Given the description of an element on the screen output the (x, y) to click on. 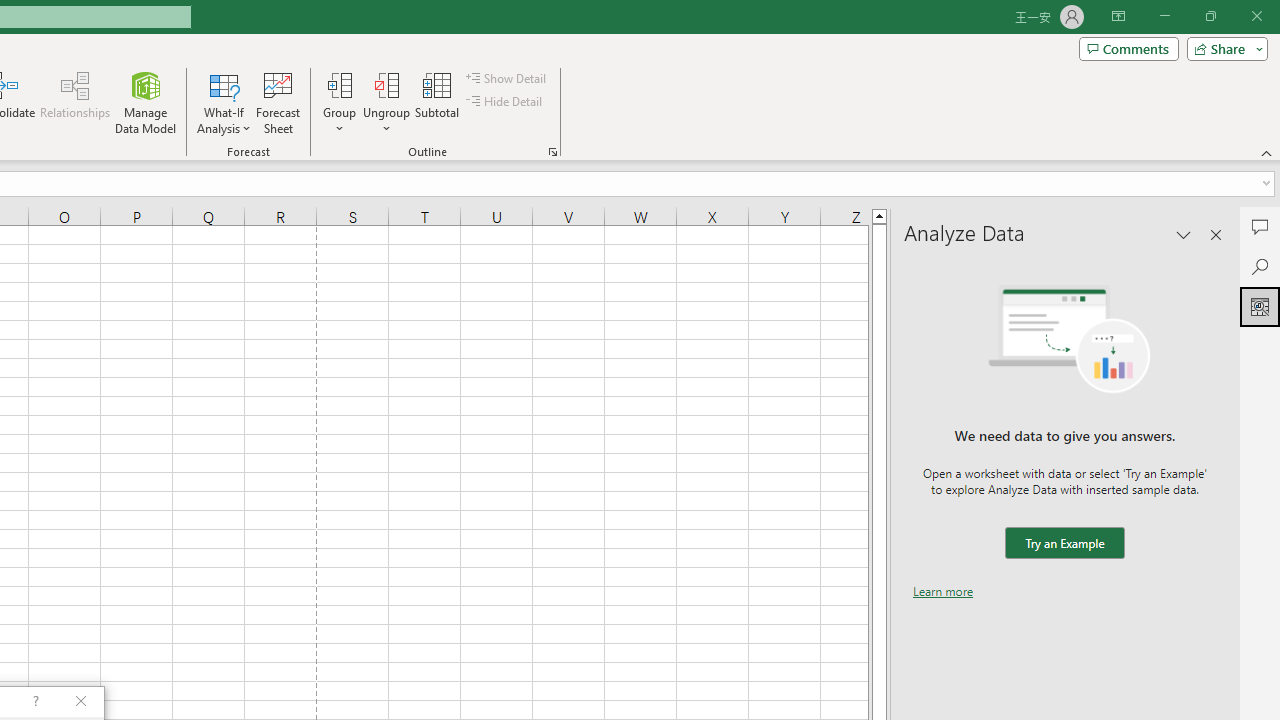
What-If Analysis (223, 102)
Group and Outline Settings (552, 151)
Show Detail (507, 78)
Forecast Sheet (278, 102)
Learn more (943, 591)
